Given the description of an element on the screen output the (x, y) to click on. 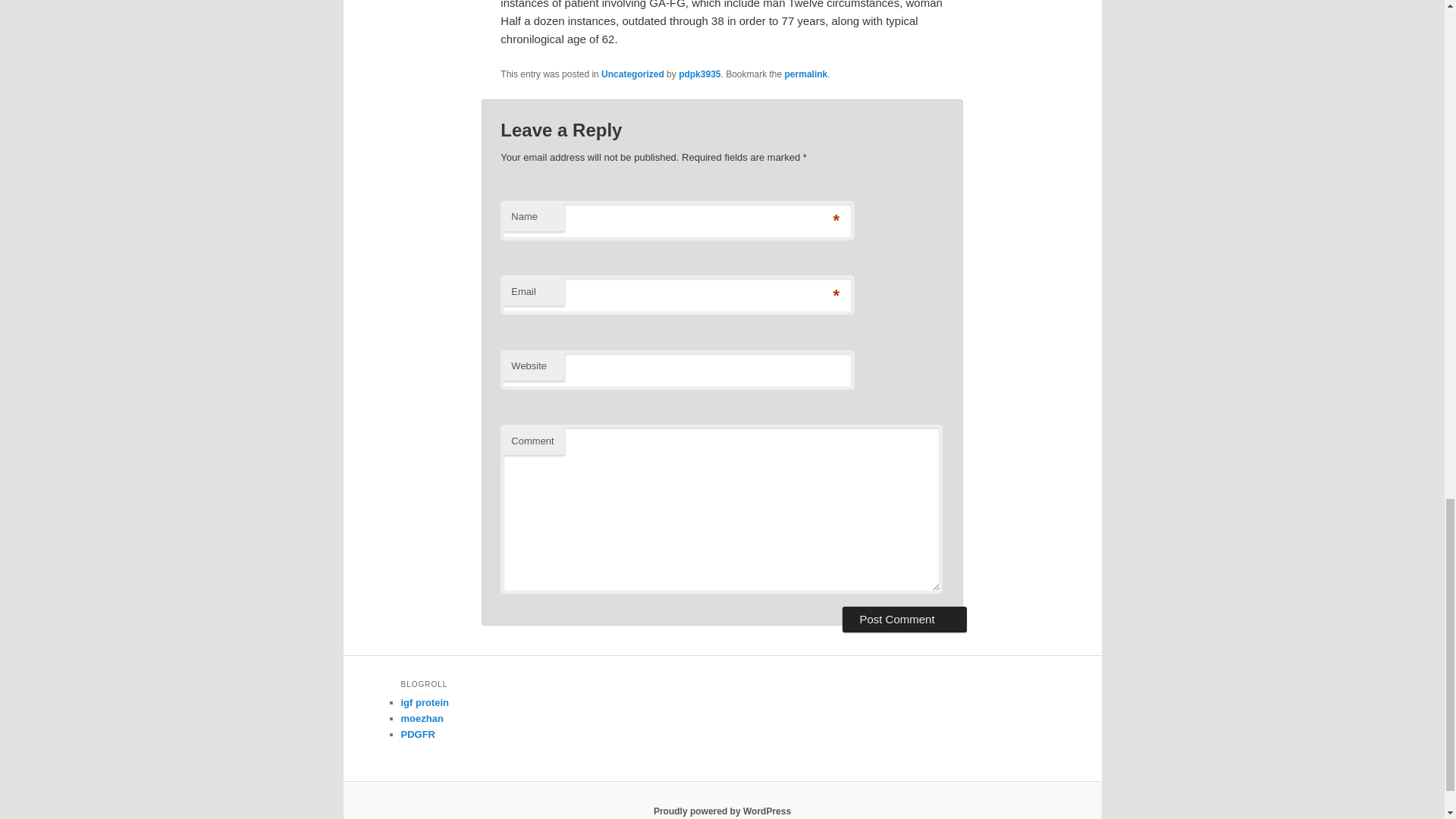
Uncategorized (632, 73)
Proudly powered by WordPress (721, 810)
permalink (806, 73)
igf protein (424, 702)
Semantic Personal Publishing Platform (721, 810)
PDGFR (417, 734)
pdpk3935 (699, 73)
moezhan (421, 717)
View all posts in Uncategorized (632, 73)
